Given the description of an element on the screen output the (x, y) to click on. 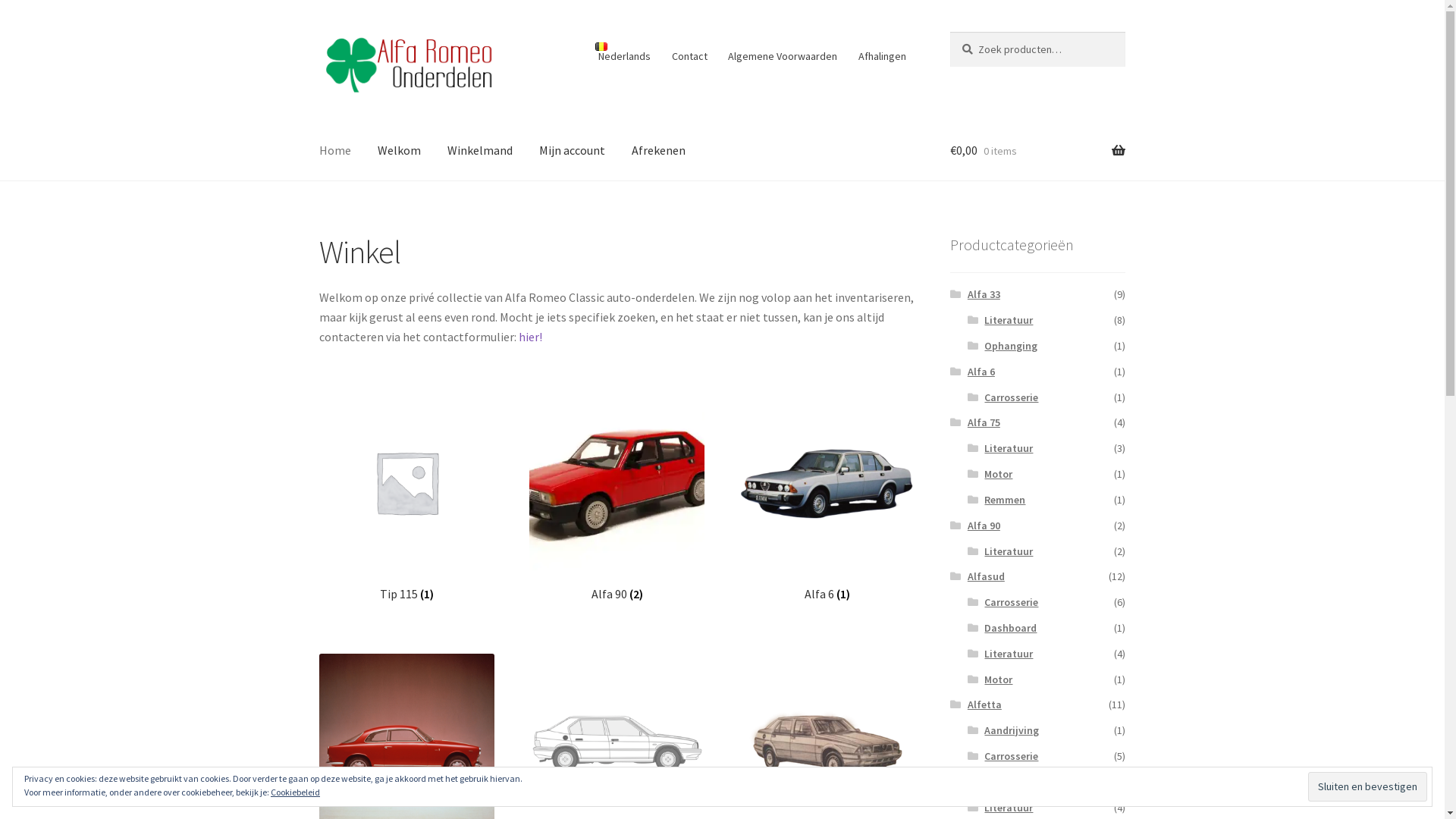
Alfa 75 Element type: text (983, 422)
Aandrijving Element type: text (1011, 730)
Alfa 90 (2) Element type: text (616, 497)
Welkom Element type: text (399, 150)
Ophanging Element type: text (1010, 345)
Cookiebeleid Element type: text (295, 791)
Alfetta Element type: text (984, 704)
Literatuur Element type: text (1008, 551)
Motor Element type: text (998, 473)
Literatuur Element type: text (1008, 448)
Home Element type: text (335, 150)
Alfasud Element type: text (985, 576)
Zoeken Element type: text (949, 31)
Contact Element type: text (689, 56)
Literatuur Element type: text (1008, 807)
Remmen Element type: text (1004, 499)
Alfa 6 (1) Element type: text (827, 497)
Motor Element type: text (998, 679)
Literatuur Element type: text (1008, 653)
Alfa 33 Element type: text (983, 294)
Interieur Element type: text (1004, 781)
Carrosserie Element type: text (1011, 601)
hier! Element type: text (530, 336)
Alfa 90 Element type: text (983, 525)
Nederlands Element type: text (623, 51)
Winkelmand Element type: text (479, 150)
Afhalingen Element type: text (881, 56)
Dashboard Element type: text (1010, 627)
Mijn account Element type: text (572, 150)
Algemene Voorwaarden Element type: text (782, 56)
Afrekenen Element type: text (658, 150)
Tip 115 (1) Element type: text (406, 497)
Alfa 6 Element type: text (980, 371)
Skip to navigation Element type: text (318, 31)
Literatuur Element type: text (1008, 319)
Sluiten en bevestigen Element type: text (1367, 786)
Carrosserie Element type: text (1011, 397)
Carrosserie Element type: text (1011, 755)
